Given the description of an element on the screen output the (x, y) to click on. 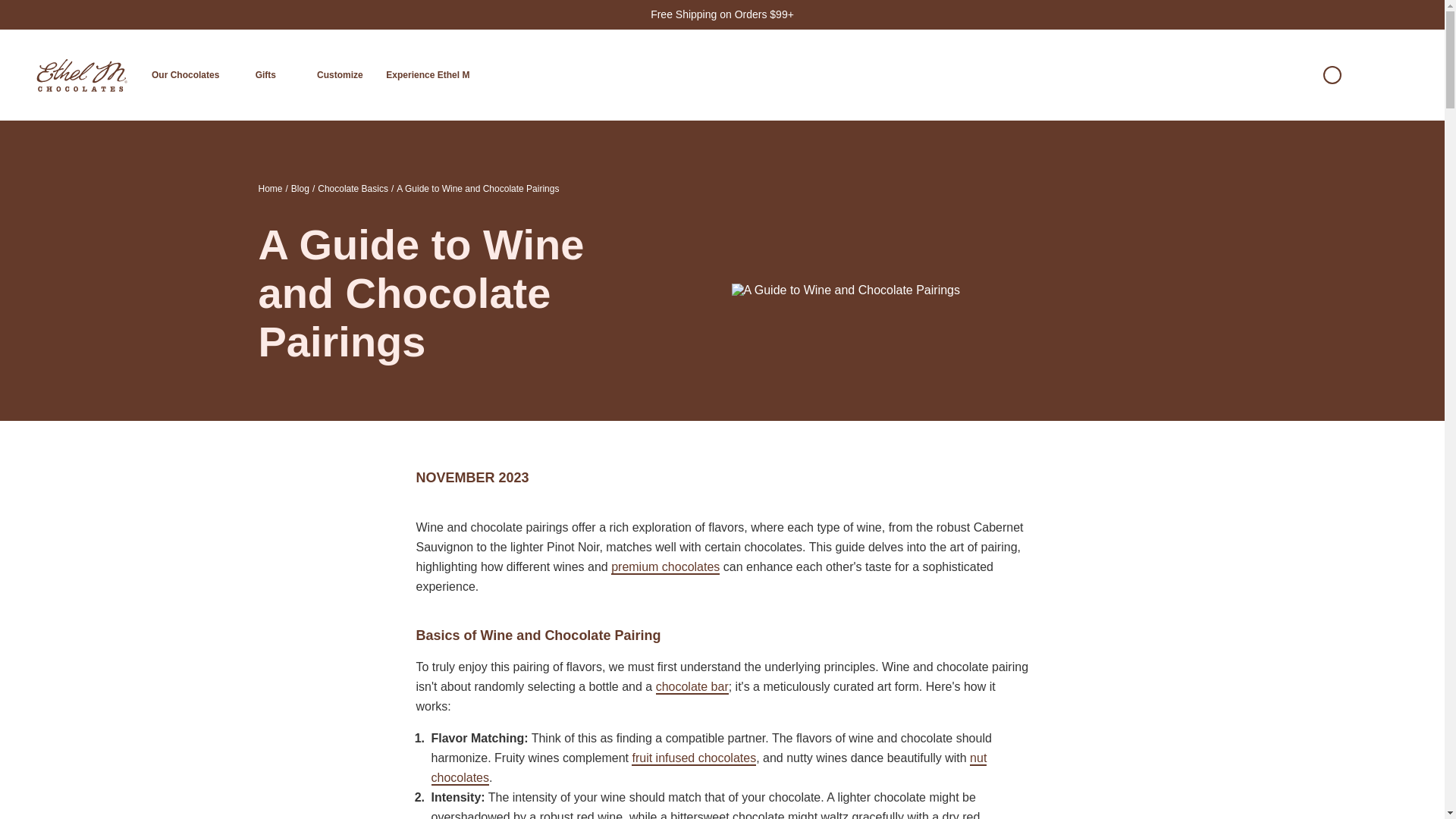
Gifts (265, 74)
Open Search Bar (1299, 74)
Our Chocolates (185, 74)
Sign In (1365, 74)
